Given the description of an element on the screen output the (x, y) to click on. 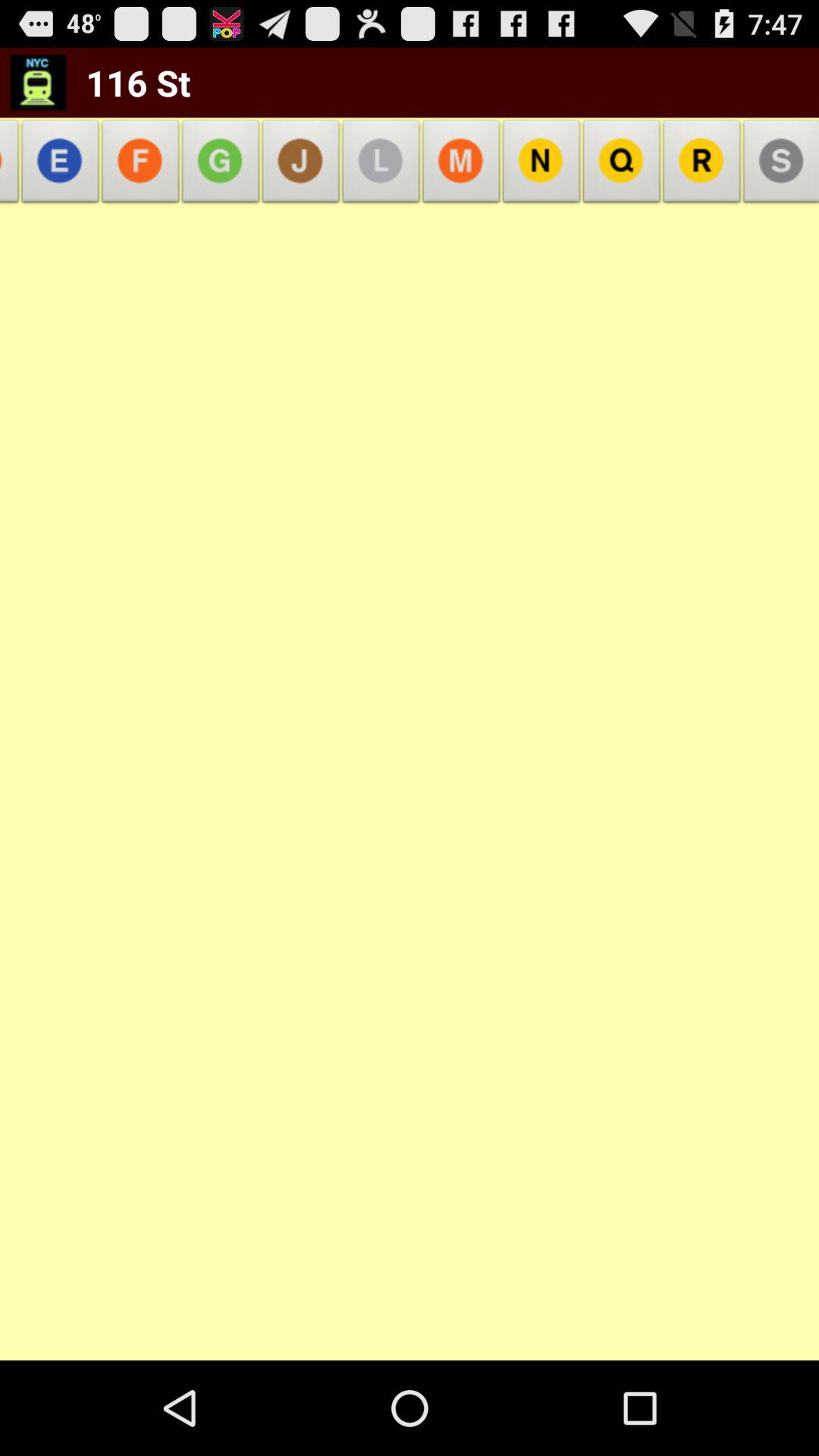
turn off app below 116 st icon (220, 165)
